Given the description of an element on the screen output the (x, y) to click on. 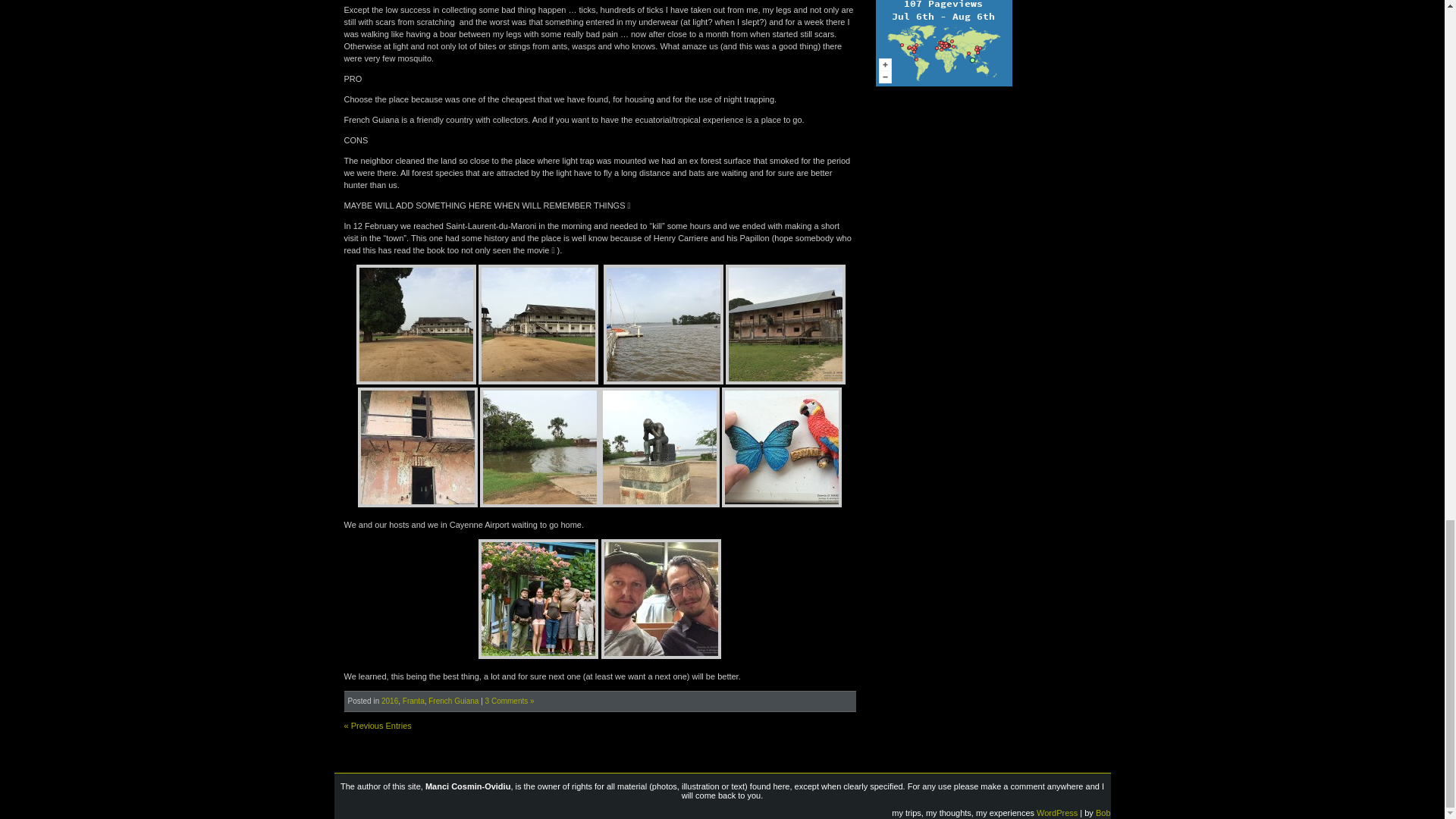
Locations of visitors to this page (943, 43)
French Guiana (453, 700)
Franta (414, 700)
2016 (389, 700)
